Given the description of an element on the screen output the (x, y) to click on. 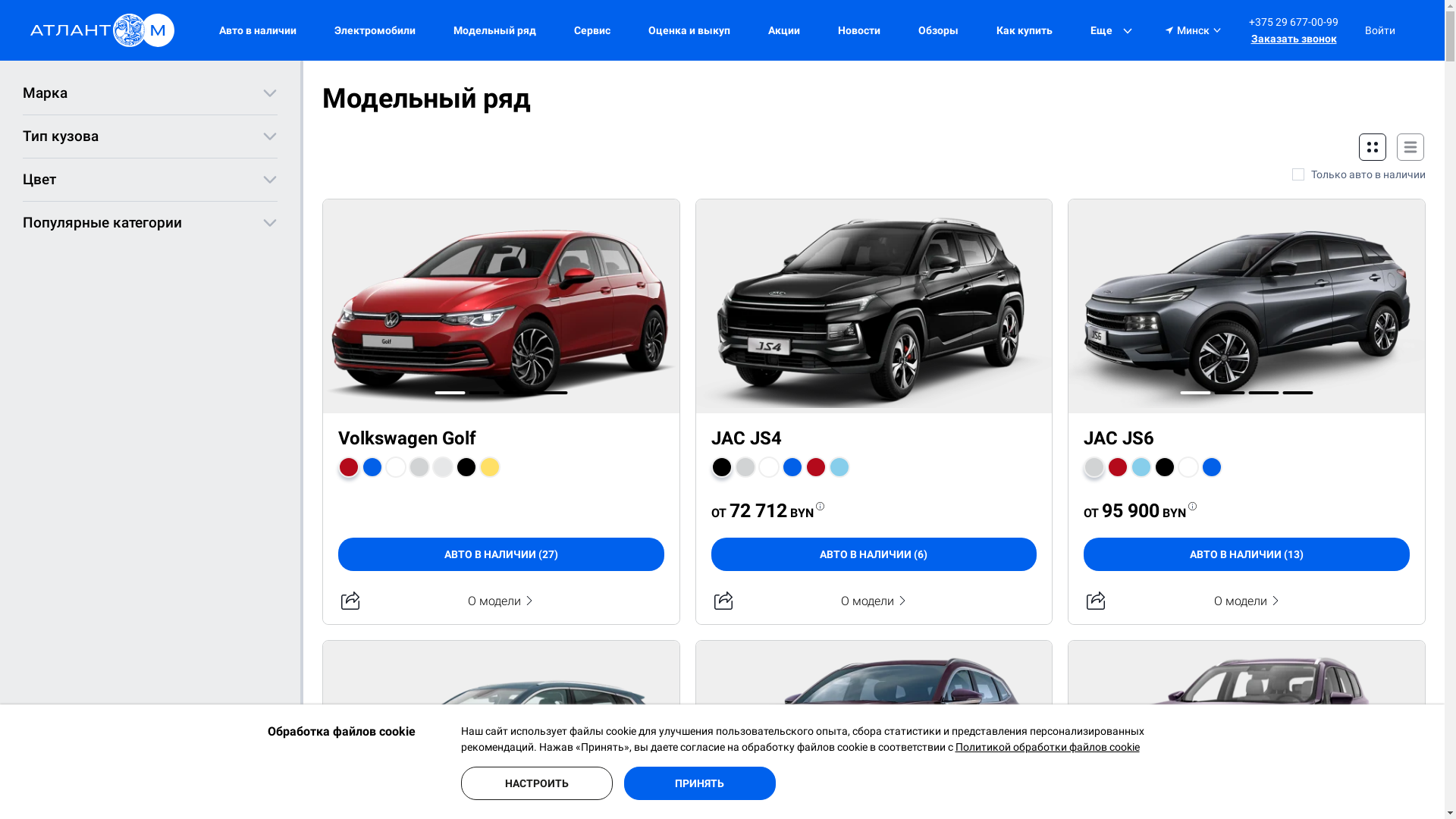
JAC JS4 Element type: text (746, 437)
JAC JS6 Element type: text (1118, 437)
Volkswagen Golf Element type: text (407, 437)
+375 29 677-00-99 Element type: text (1293, 21)
